Given the description of an element on the screen output the (x, y) to click on. 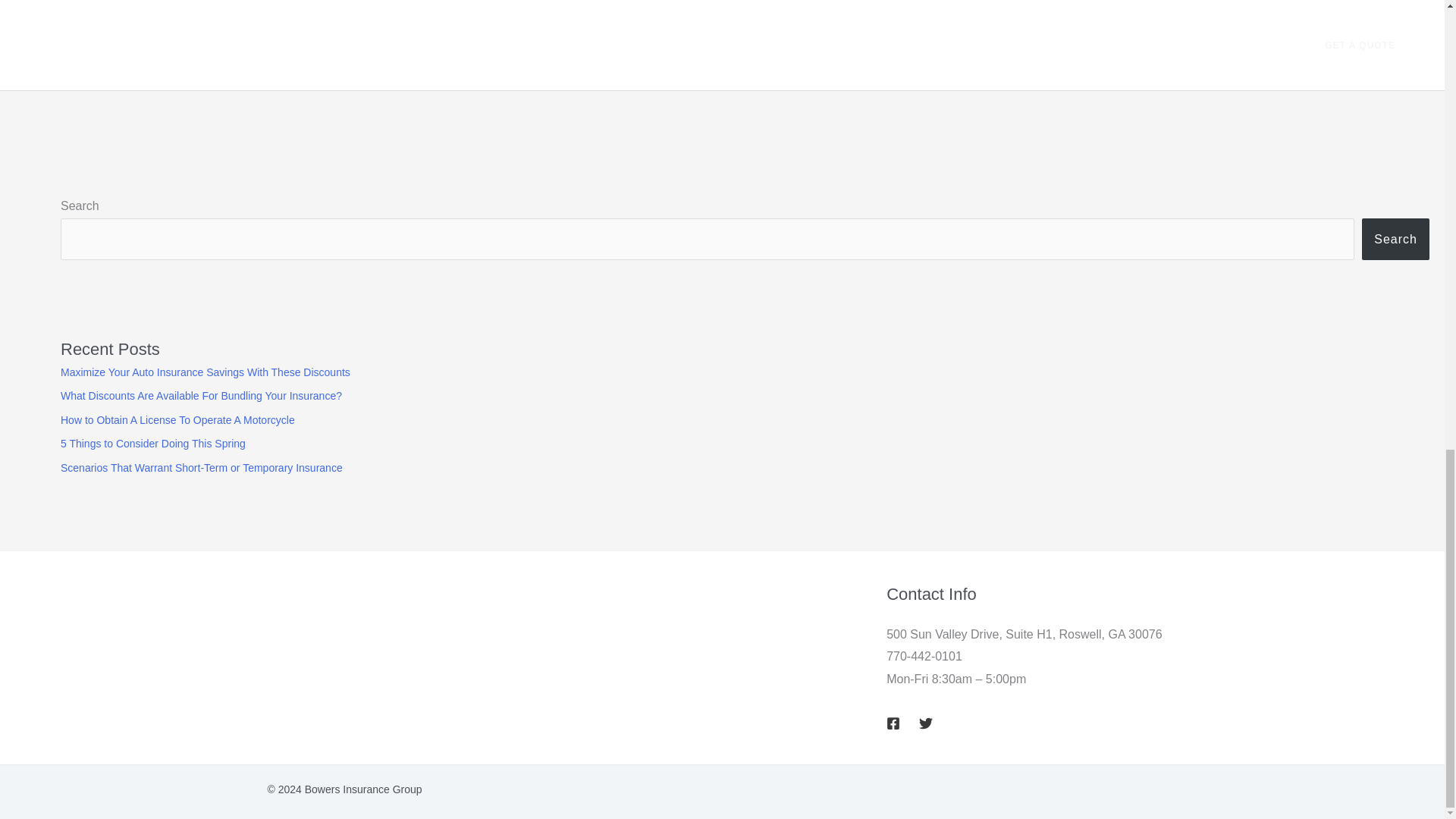
Maximize Your Auto Insurance Savings With These Discounts (205, 372)
How to Obtain A License To Operate A Motorcycle (178, 419)
What Discounts Are Available For Bundling Your Insurance? (201, 395)
Scenarios That Warrant Short-Term or Temporary Insurance (201, 467)
5 Things to Consider Doing This Spring (153, 443)
Search (1395, 238)
